Given the description of an element on the screen output the (x, y) to click on. 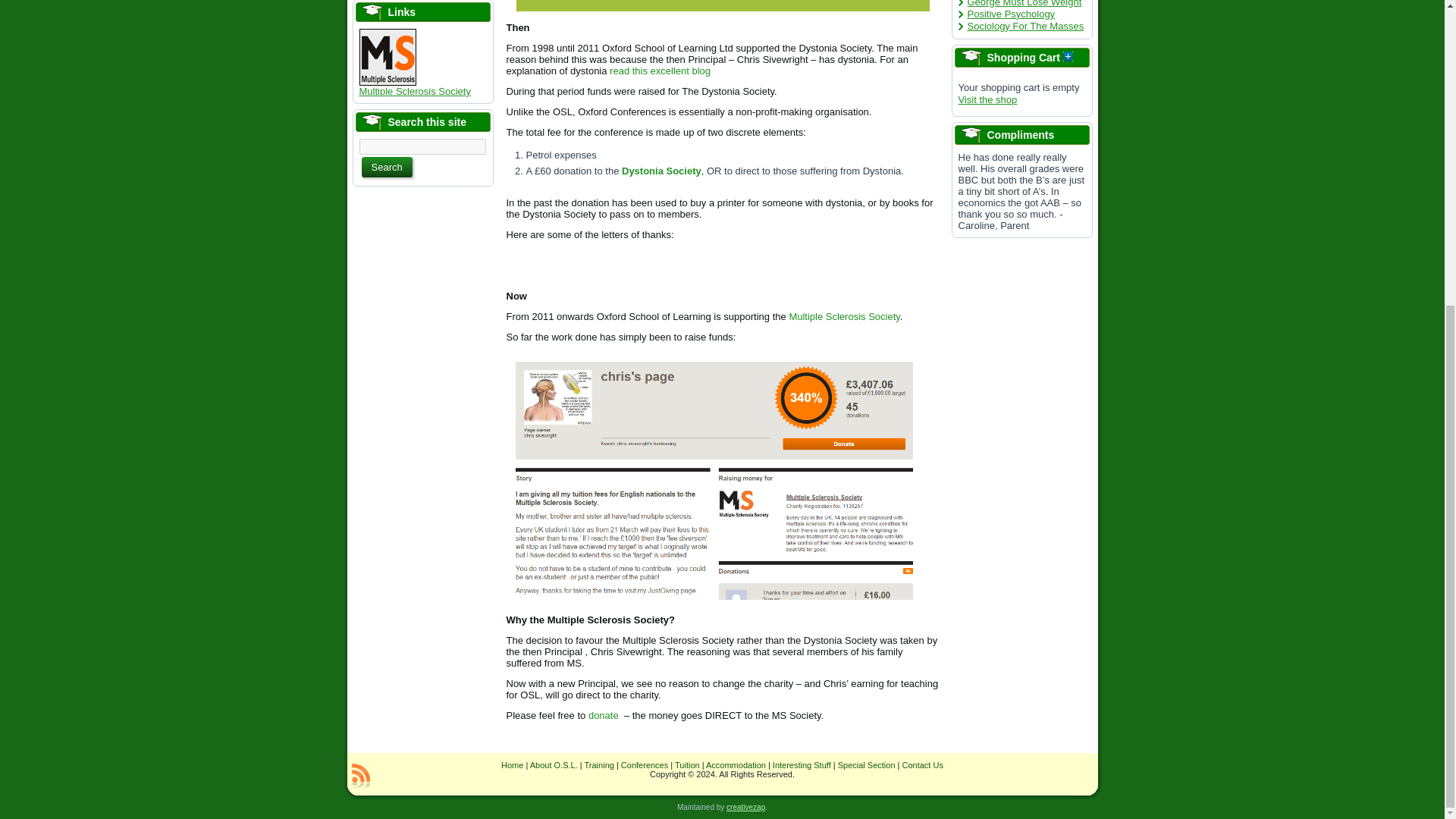
Search (386, 166)
